Given the description of an element on the screen output the (x, y) to click on. 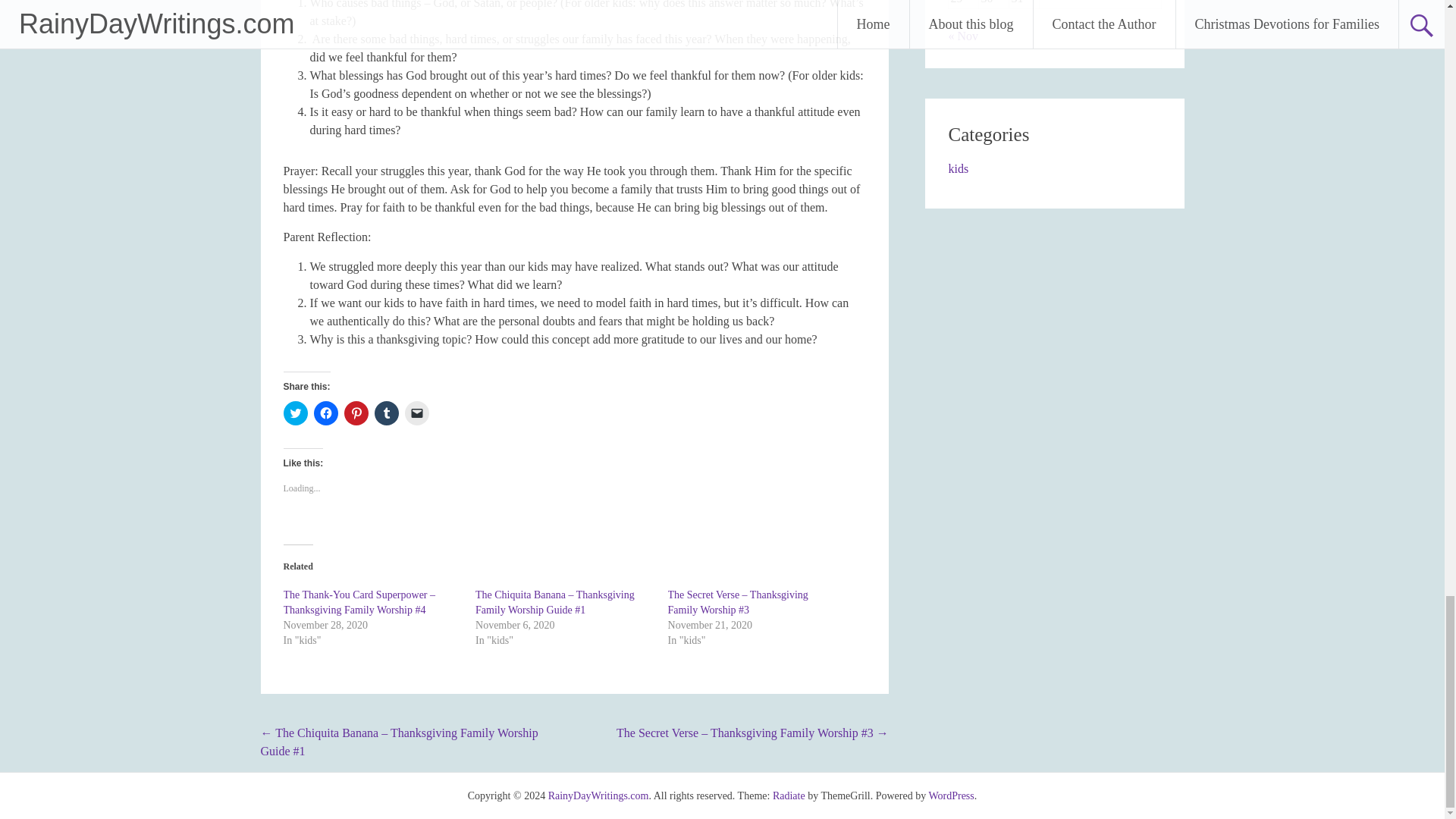
Click to email a link to a friend (416, 413)
Click to share on Twitter (295, 413)
Radiate (789, 795)
RainyDayWritings.com (598, 795)
Click to share on Facebook (325, 413)
kids (957, 168)
Click to share on Pinterest (355, 413)
Click to share on Tumblr (386, 413)
WordPress (951, 795)
